Given the description of an element on the screen output the (x, y) to click on. 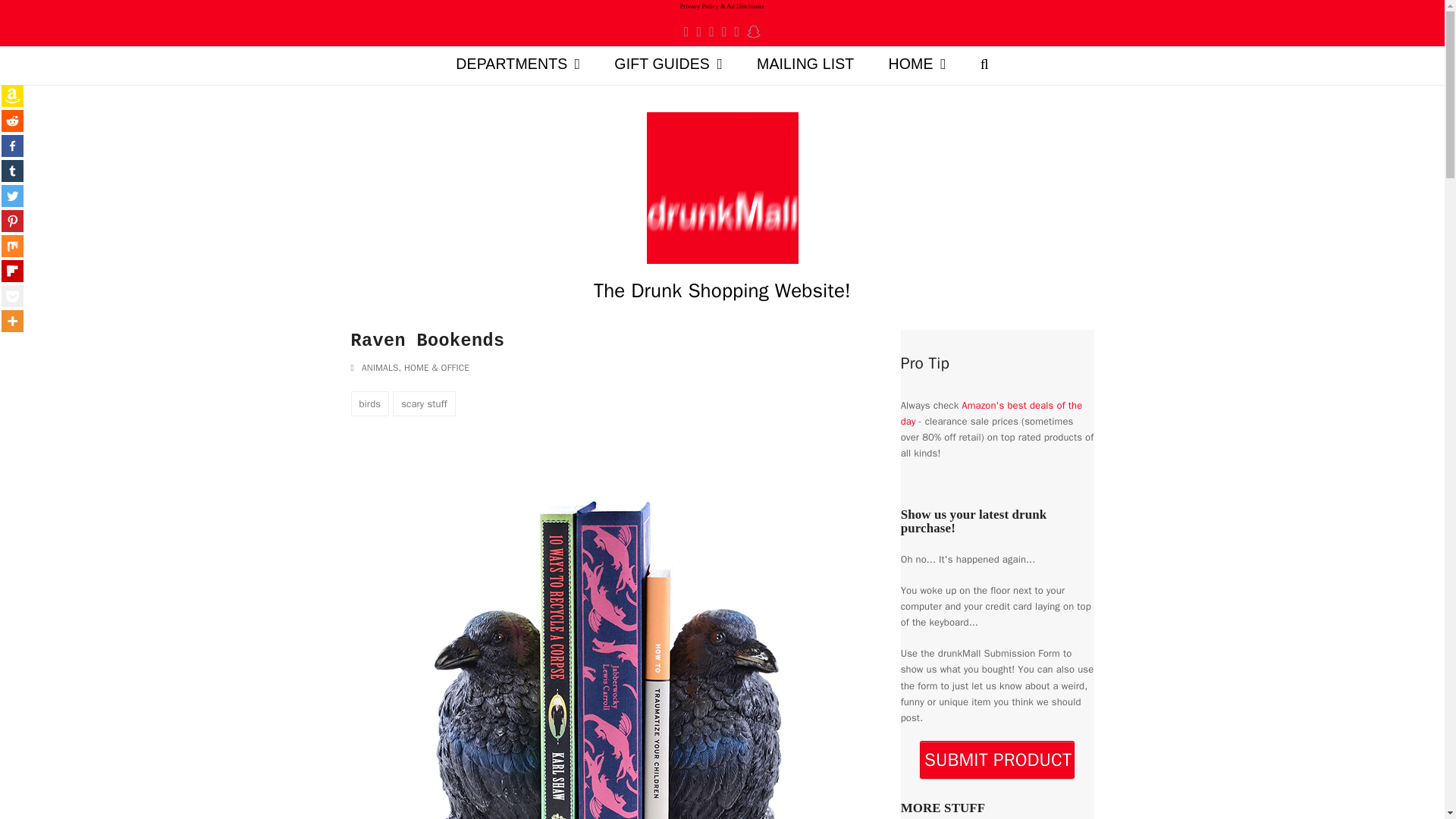
Instagram (724, 31)
DEPARTMENTS (518, 65)
Instagram (724, 31)
Snapchat (753, 31)
GIFT GUIDES (668, 65)
Tumblr (737, 31)
Snapchat (753, 31)
Pinterest (711, 31)
Facebook (698, 31)
HOME (916, 65)
MAILING LIST (805, 65)
Twitter (686, 31)
Twitter (686, 31)
Pinterest (711, 31)
Facebook (698, 31)
